Given the description of an element on the screen output the (x, y) to click on. 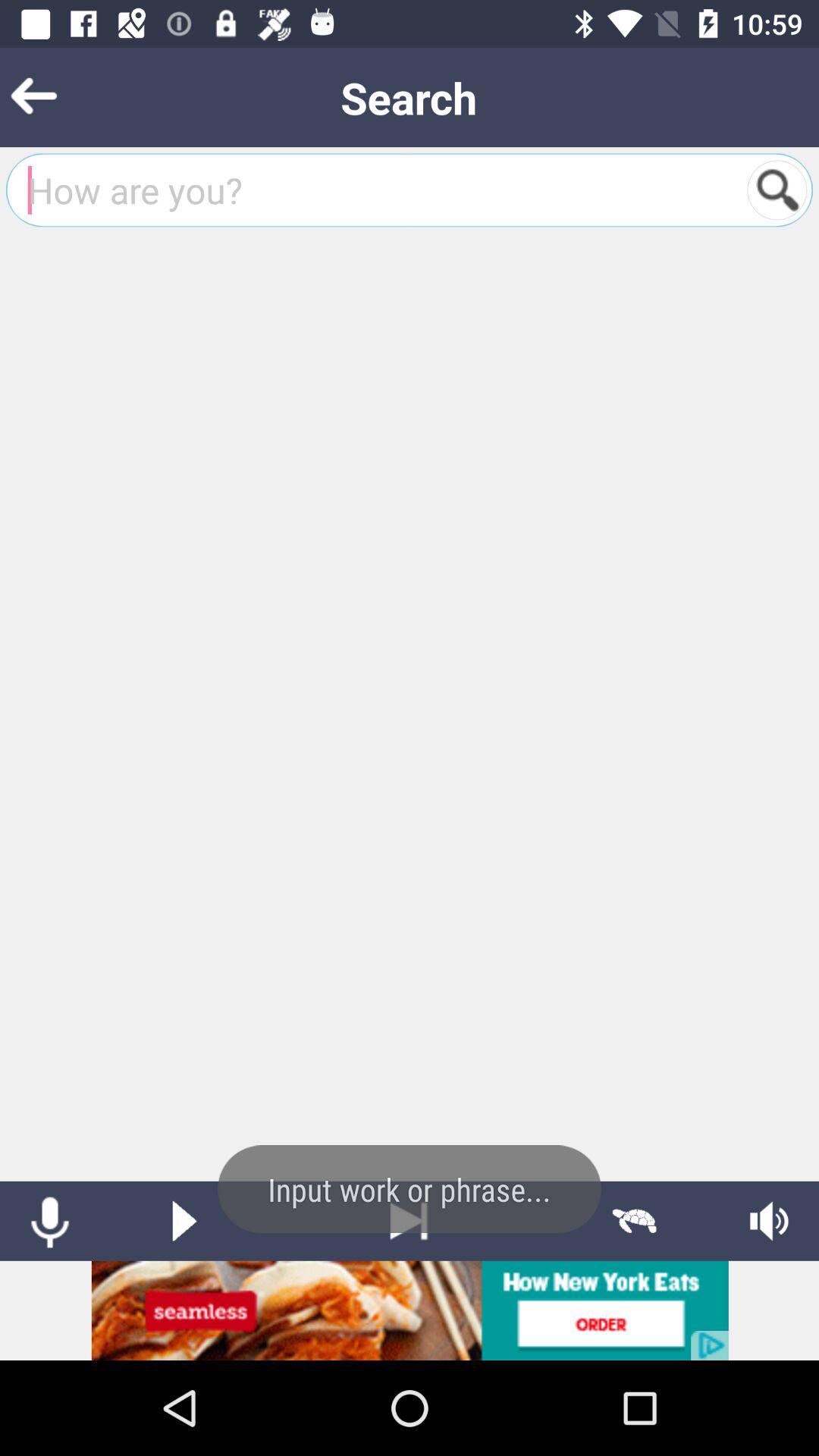
go to audio settings (769, 1220)
